Given the description of an element on the screen output the (x, y) to click on. 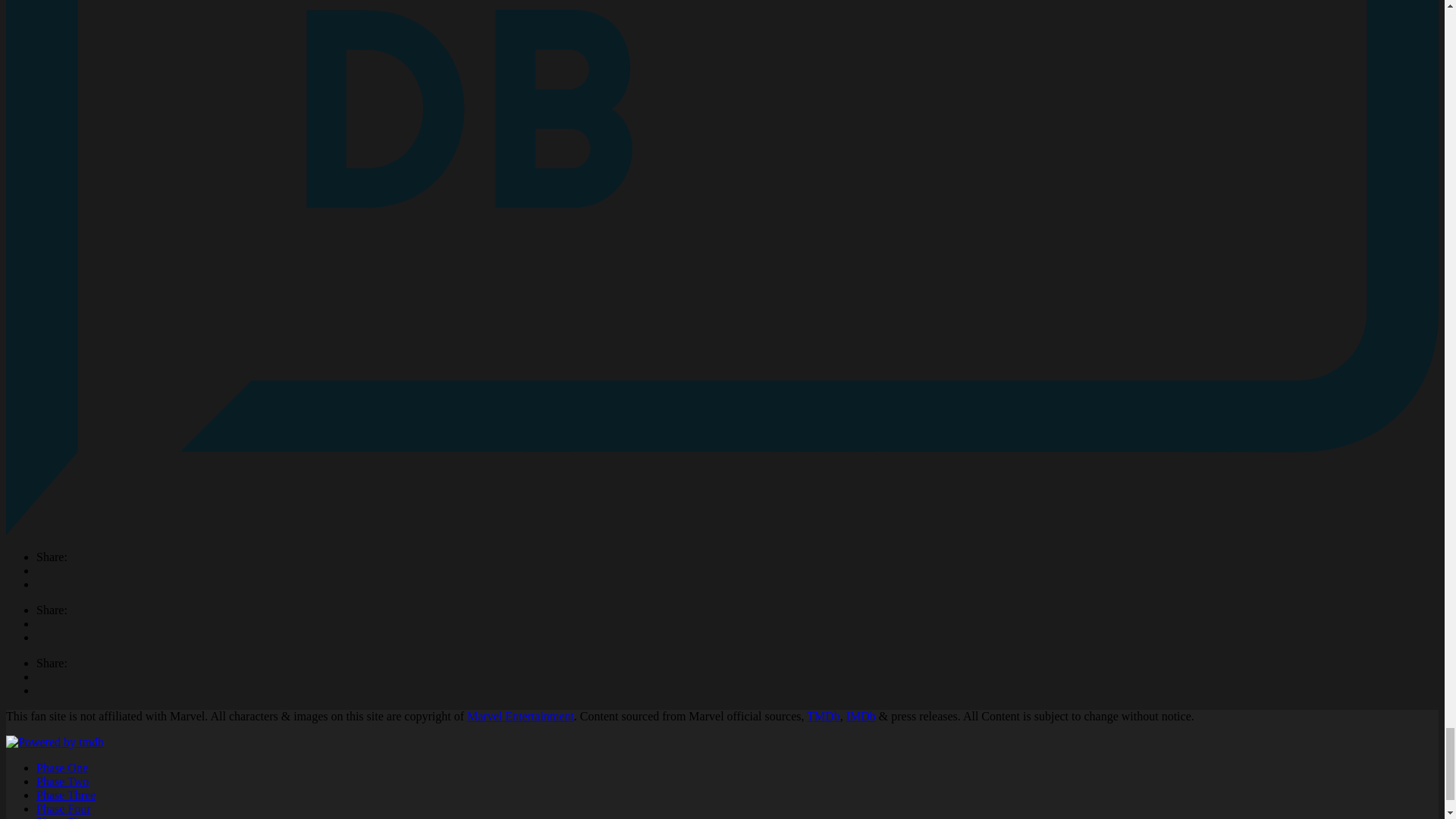
Phase Four (63, 808)
Phase Five (62, 817)
Phase Three (66, 794)
TMDb (823, 716)
Phase One (61, 767)
Phase Two (62, 780)
Marvel Entertainment (520, 716)
IMDb (860, 716)
